Given the description of an element on the screen output the (x, y) to click on. 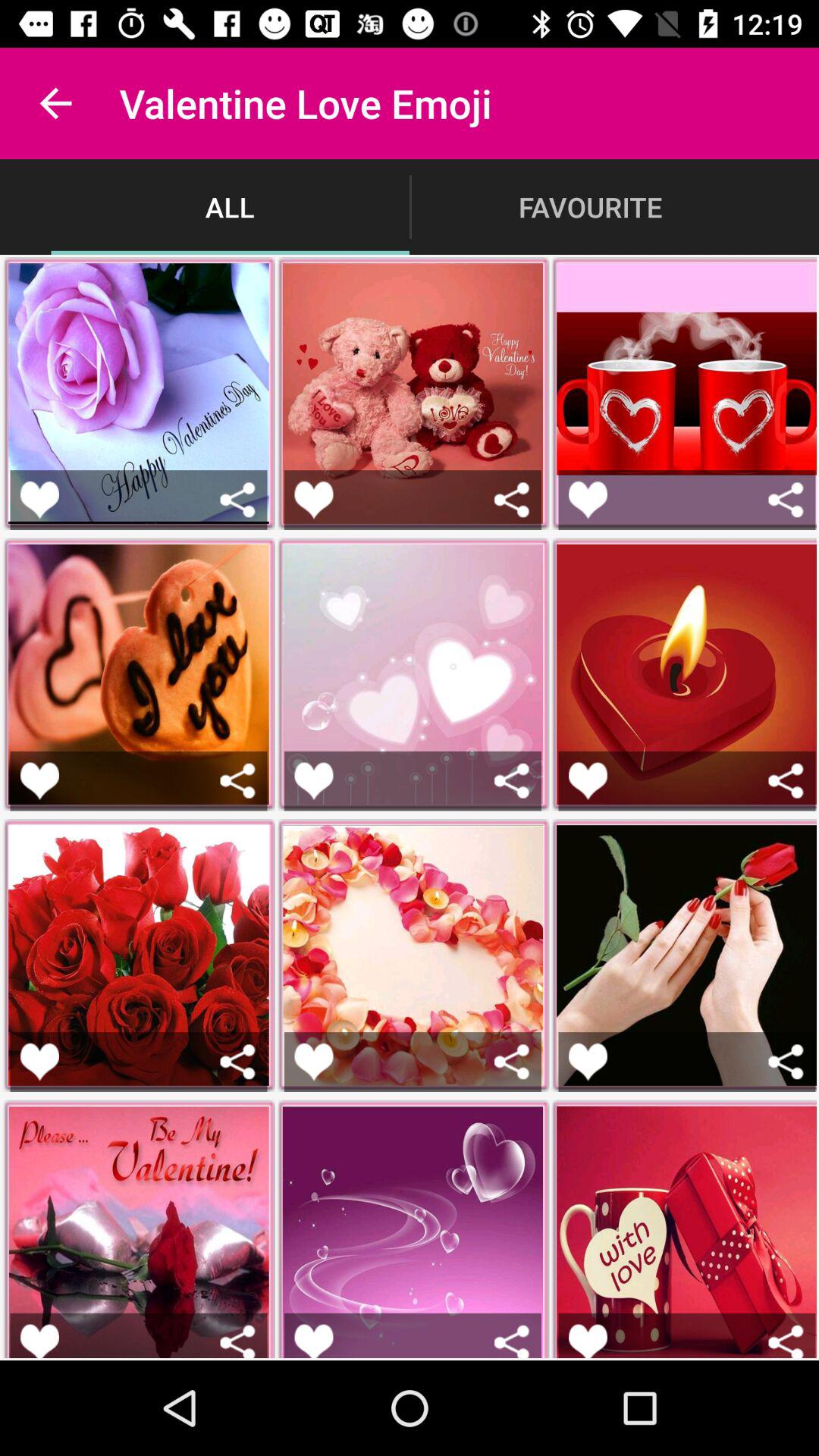
this is used to i love you (313, 1340)
